Given the description of an element on the screen output the (x, y) to click on. 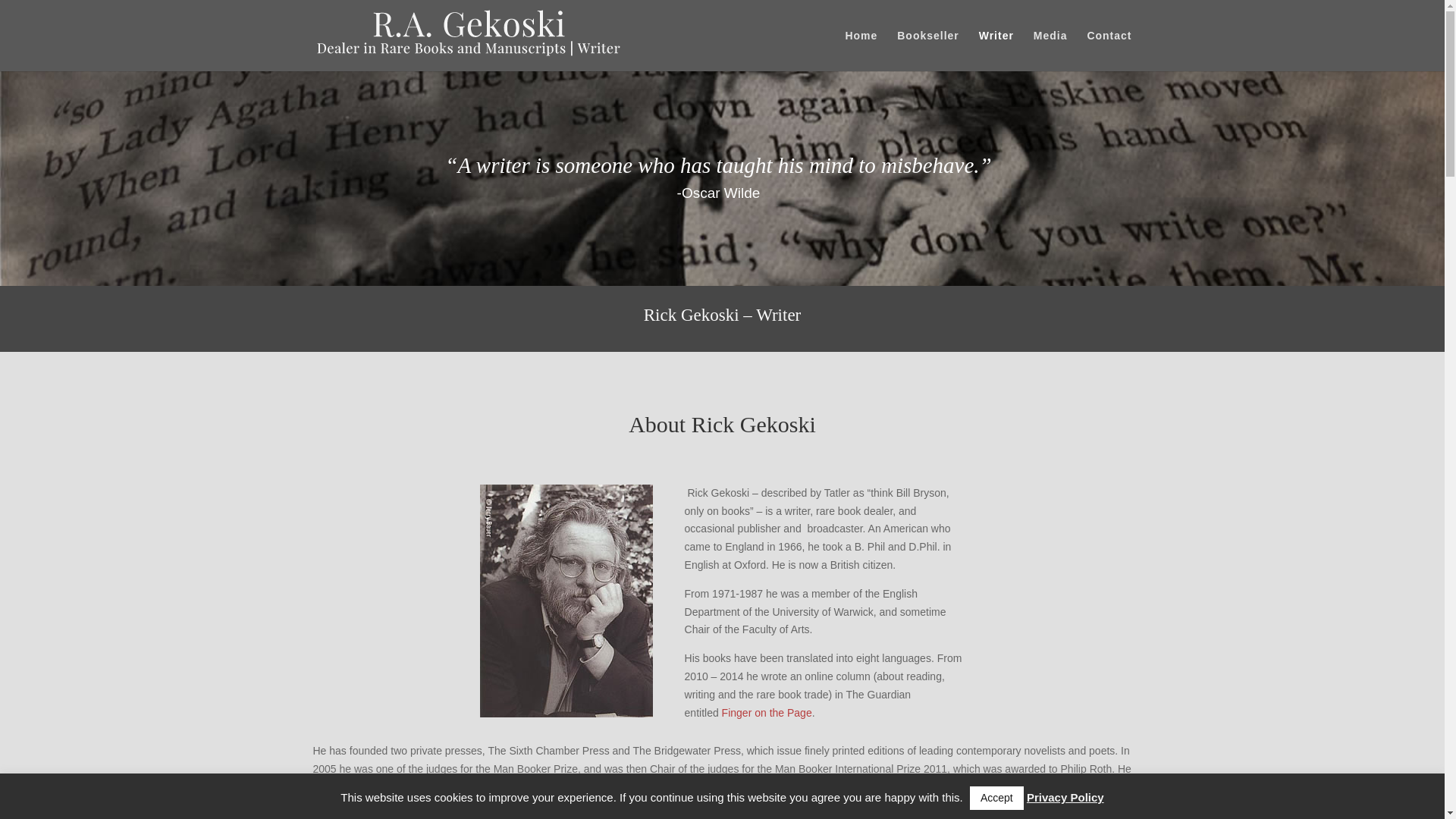
Bookseller (927, 50)
Contact (1108, 50)
Finger on the Page (767, 712)
Accept (996, 797)
